Given the description of an element on the screen output the (x, y) to click on. 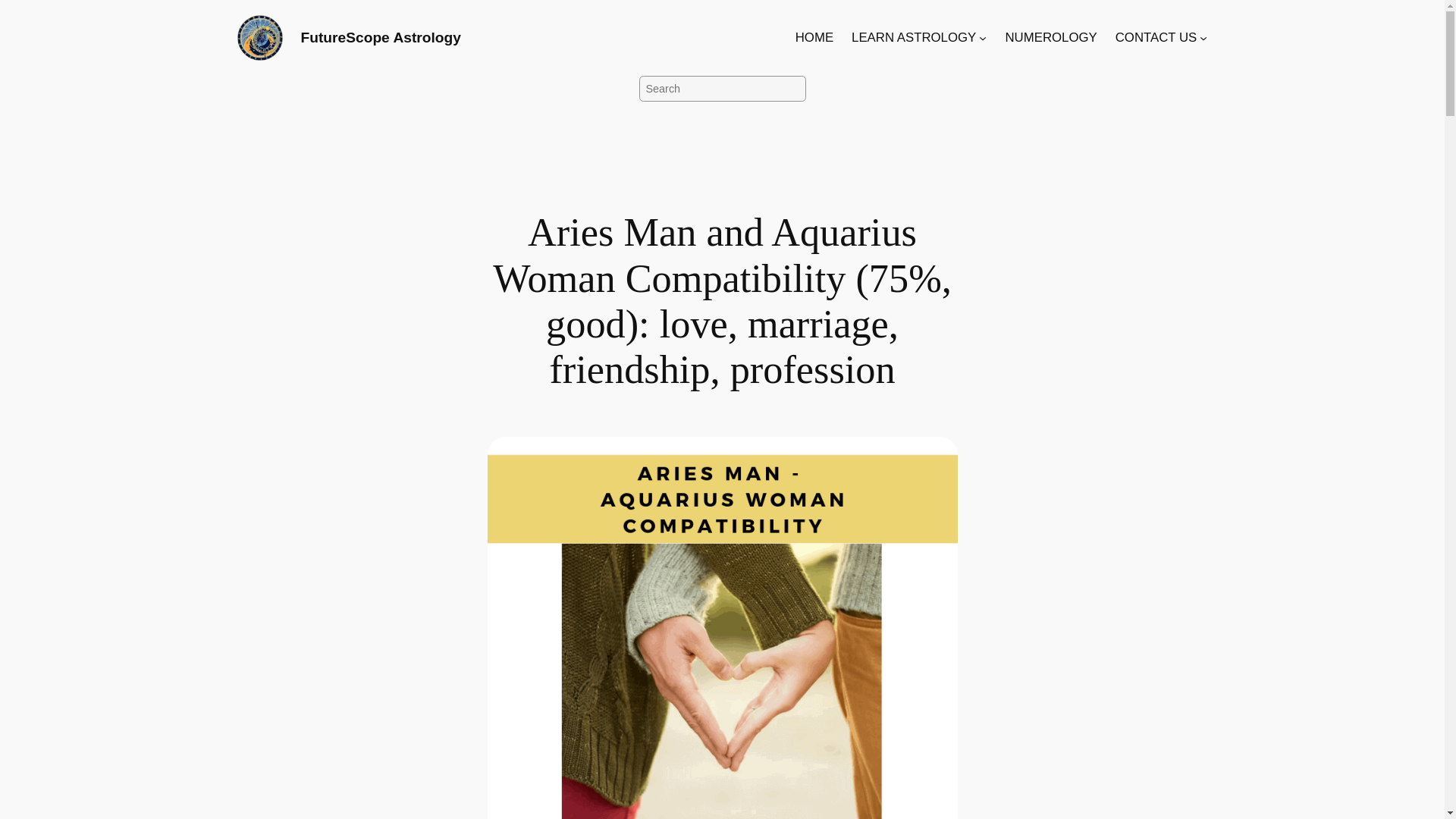
CONTACT US (1155, 37)
NUMEROLOGY (1050, 37)
FutureScope Astrology (379, 37)
LEARN ASTROLOGY (913, 37)
HOME (813, 37)
